Given the description of an element on the screen output the (x, y) to click on. 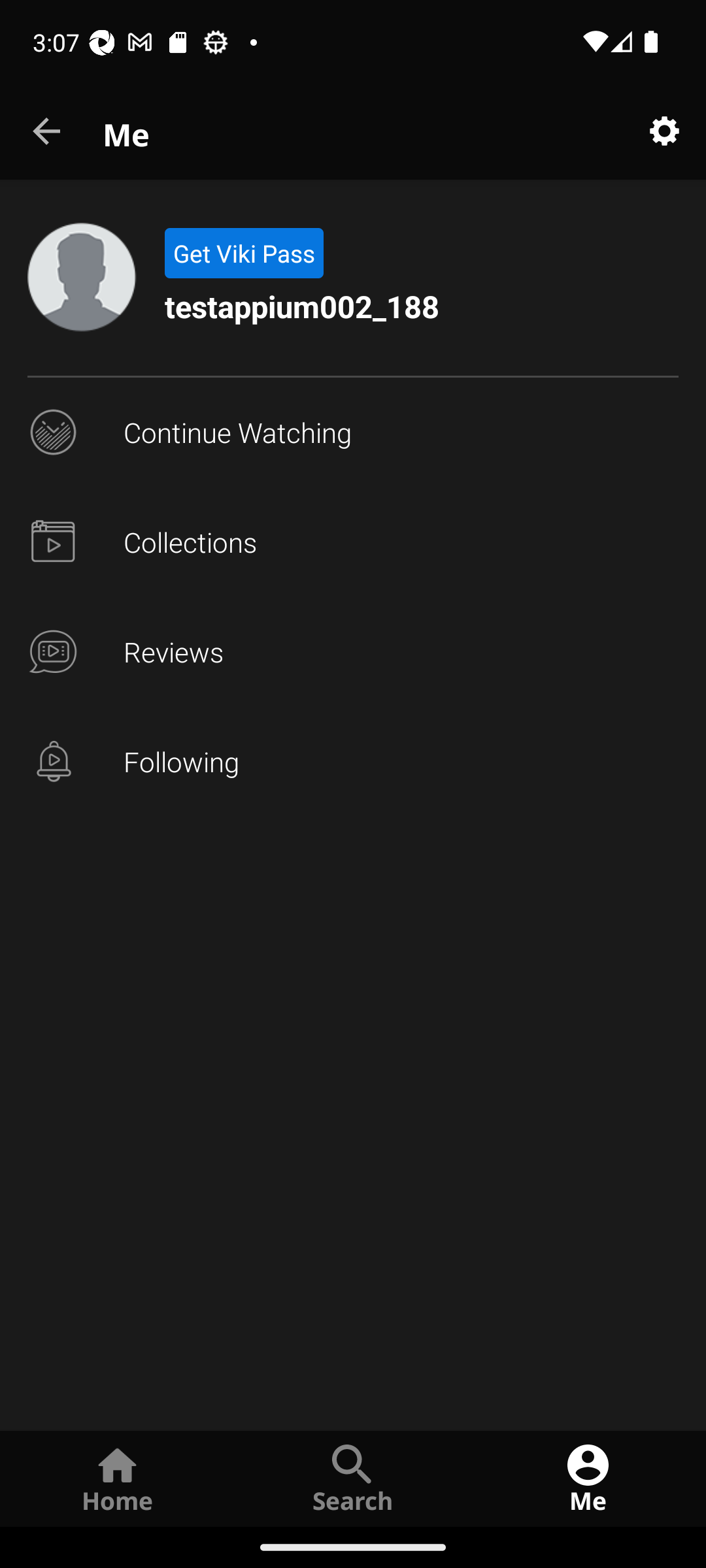
Navigate up (48, 131)
Settings (664, 131)
Get Viki Pass (243, 253)
Continue Watching (353, 432)
profile_page_user_collections Collections (353, 542)
Reviews (353, 652)
Following (353, 761)
Home (117, 1478)
Search (352, 1478)
